Given the description of an element on the screen output the (x, y) to click on. 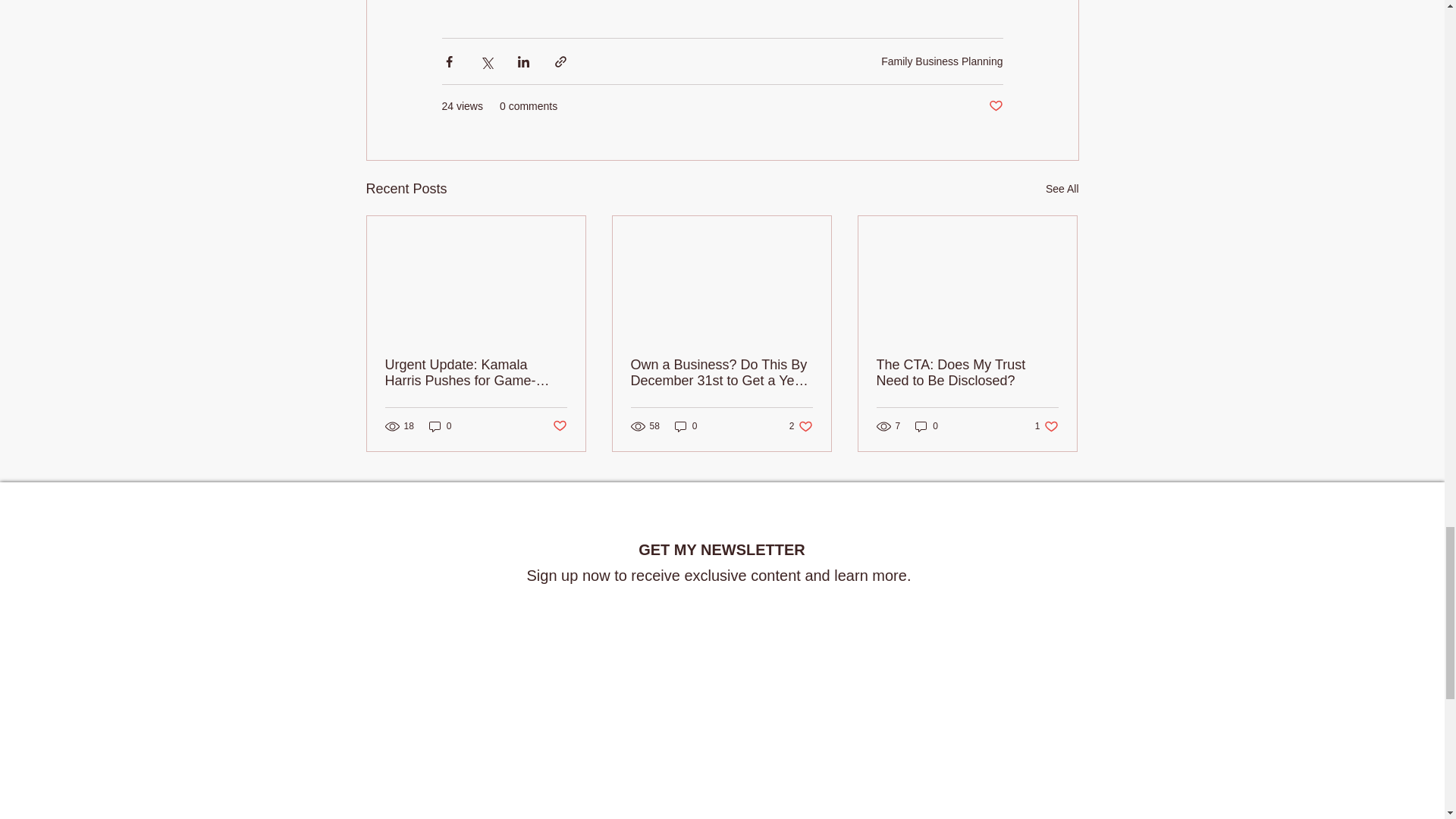
See All (1061, 188)
Post not marked as liked (800, 426)
Post not marked as liked (558, 426)
Family Business Planning (995, 106)
The CTA: Does My Trust Need to Be Disclosed? (941, 61)
0 (1046, 426)
0 (967, 373)
